Given the description of an element on the screen output the (x, y) to click on. 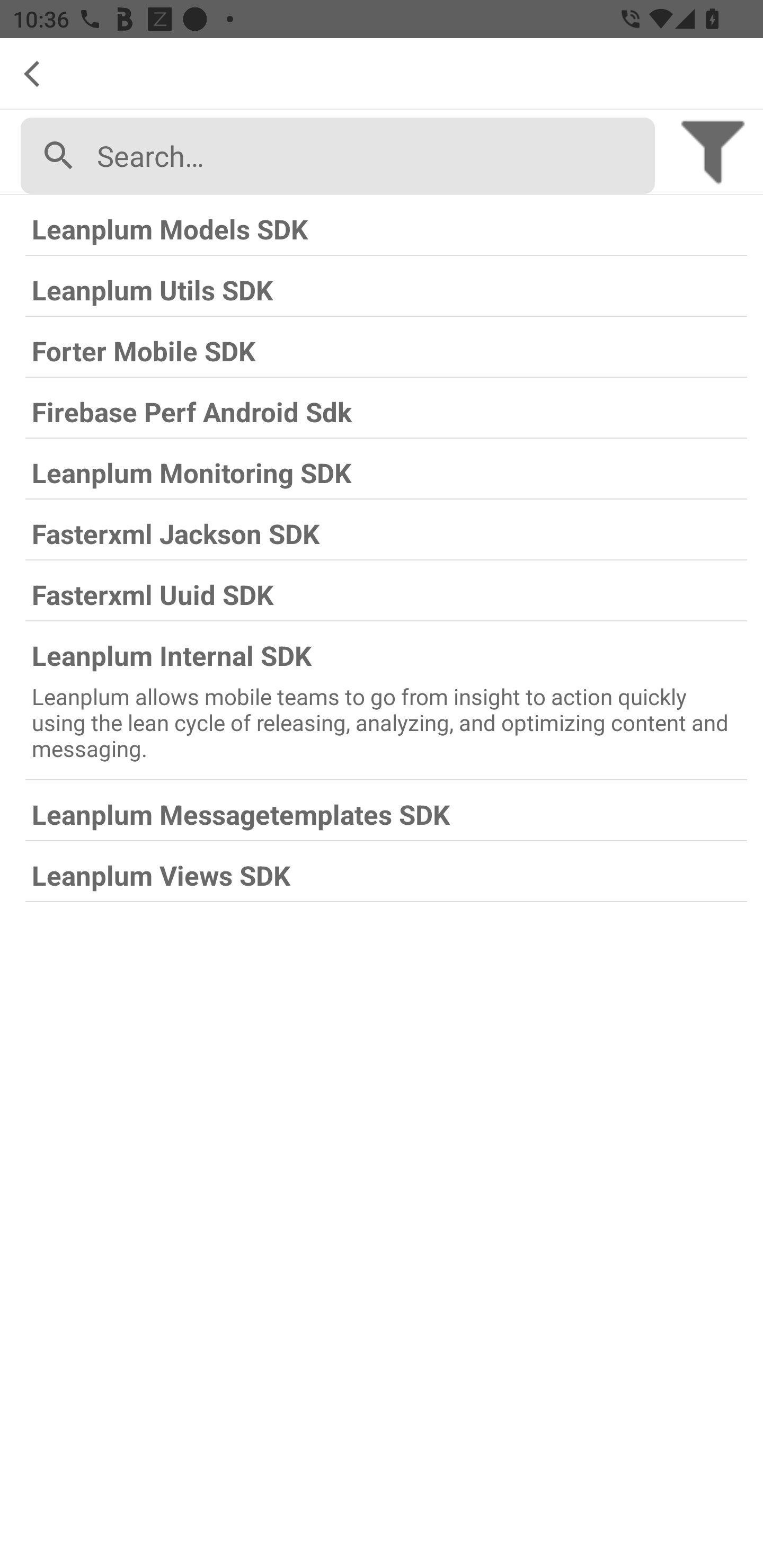
Back (39, 73)
SelectedFilter Icon (712, 149)
Search… (368, 156)
